Given the description of an element on the screen output the (x, y) to click on. 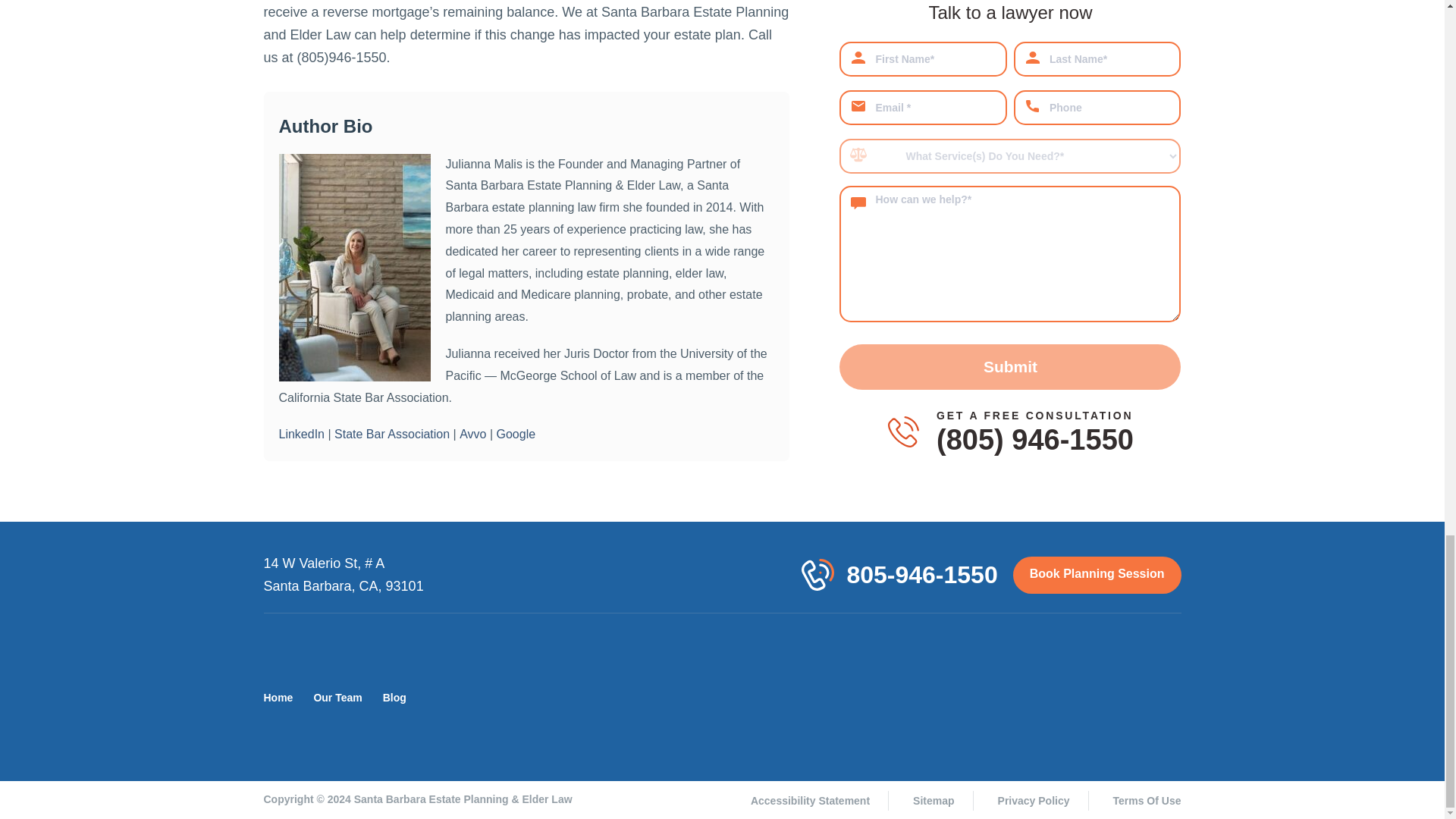
Home (278, 697)
Blog (394, 697)
Book Planning Session (1096, 574)
LinkedIn (301, 433)
805-946-1550 (921, 574)
Sitemap (944, 801)
Google (515, 433)
State Bar Association (391, 433)
Avvo (473, 433)
Our Team (337, 697)
